Given the description of an element on the screen output the (x, y) to click on. 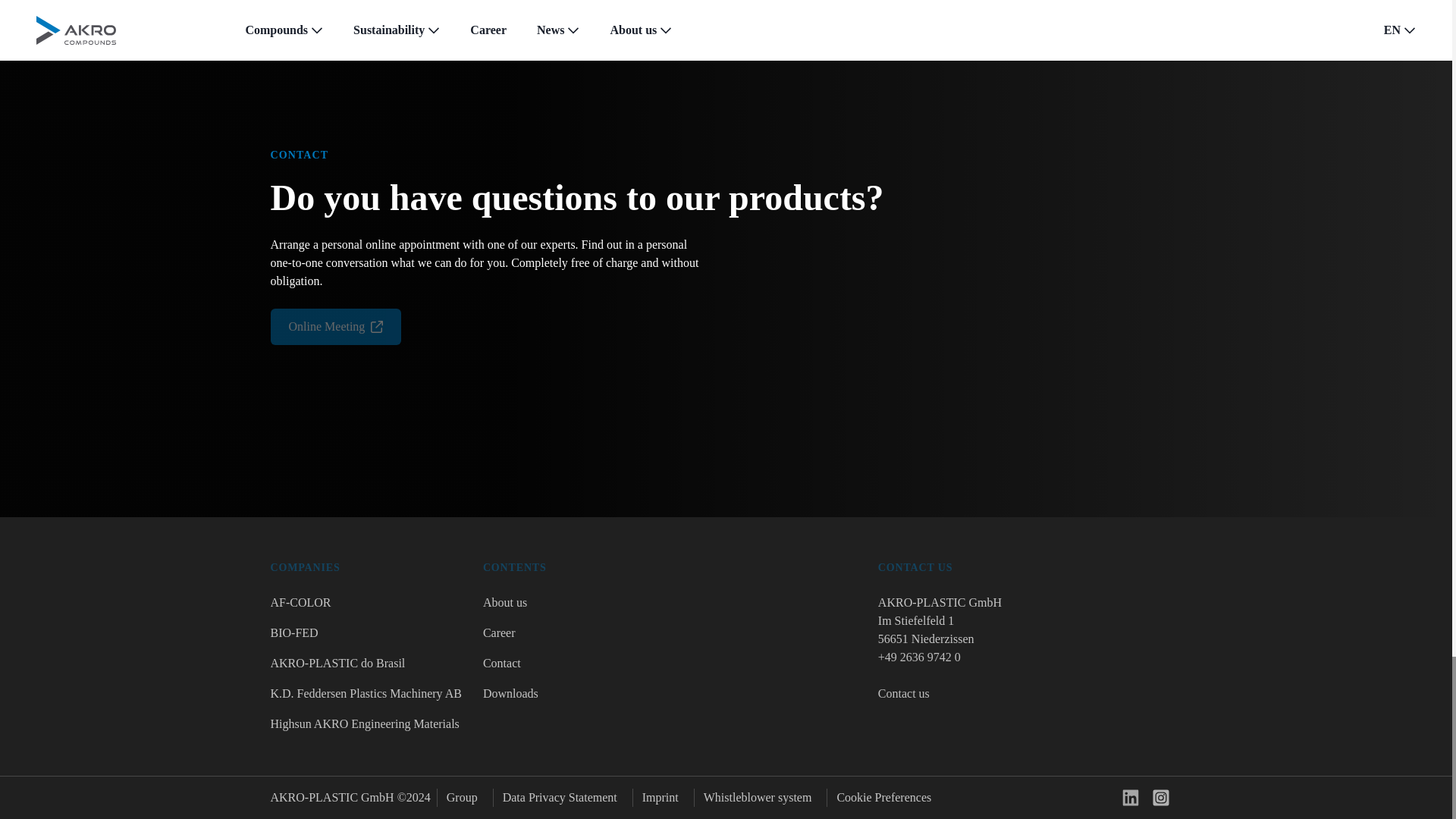
COMPANIES (365, 567)
Online Meeting (335, 326)
AKRO-PLASTIC do Brasil (365, 663)
Career (515, 633)
CONTACT US (1029, 567)
Contact us (903, 693)
Contact (515, 663)
About us (515, 602)
Data Privacy Statement (559, 797)
BIO-FED (365, 633)
